Given the description of an element on the screen output the (x, y) to click on. 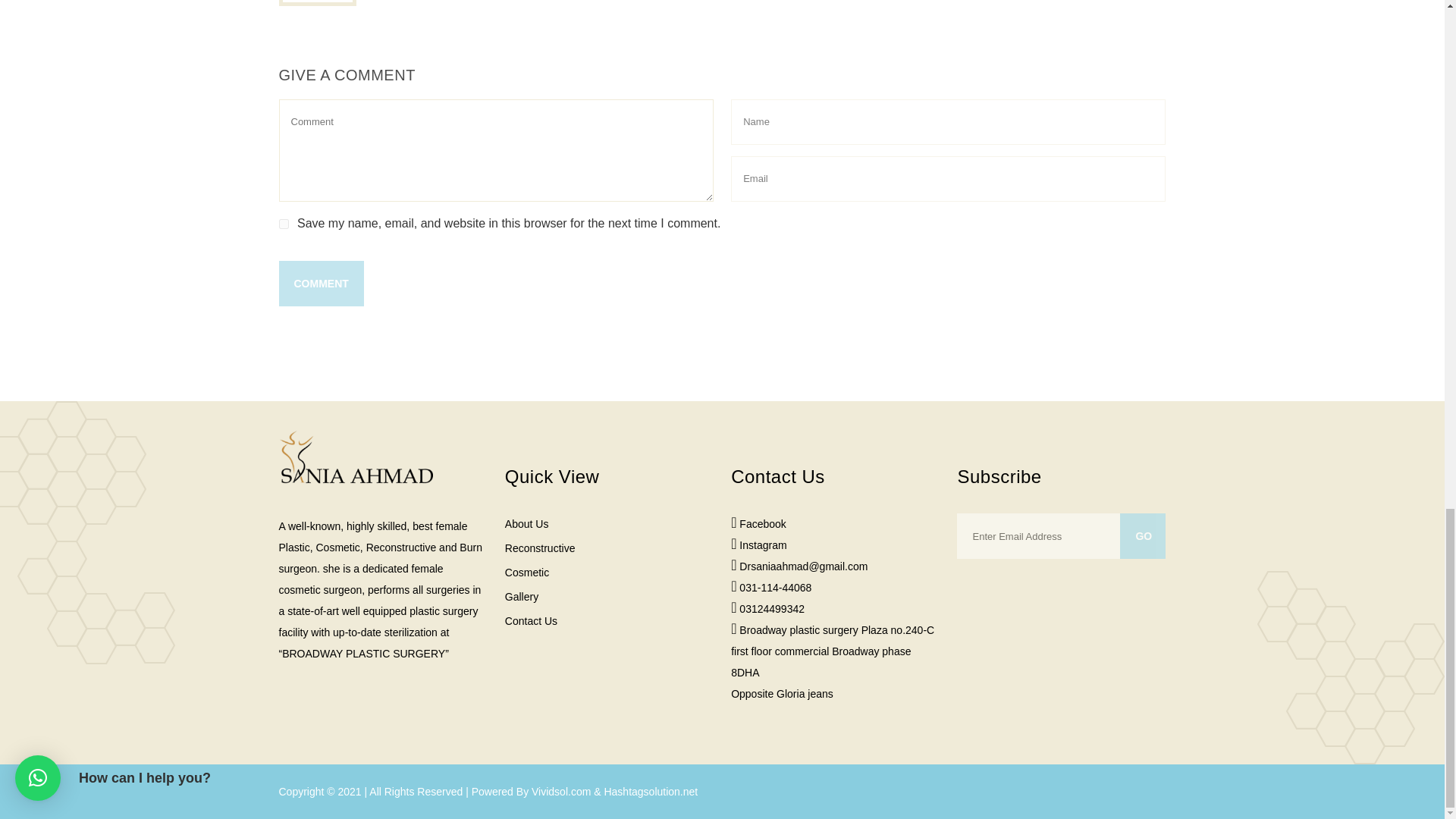
yes (283, 224)
Contact Us (609, 617)
Comment (321, 283)
About Us (609, 523)
Instagram (762, 544)
Cosmetic (609, 568)
Comment (321, 283)
Gallery (609, 592)
Facebook (762, 523)
Go (1142, 535)
